Given the description of an element on the screen output the (x, y) to click on. 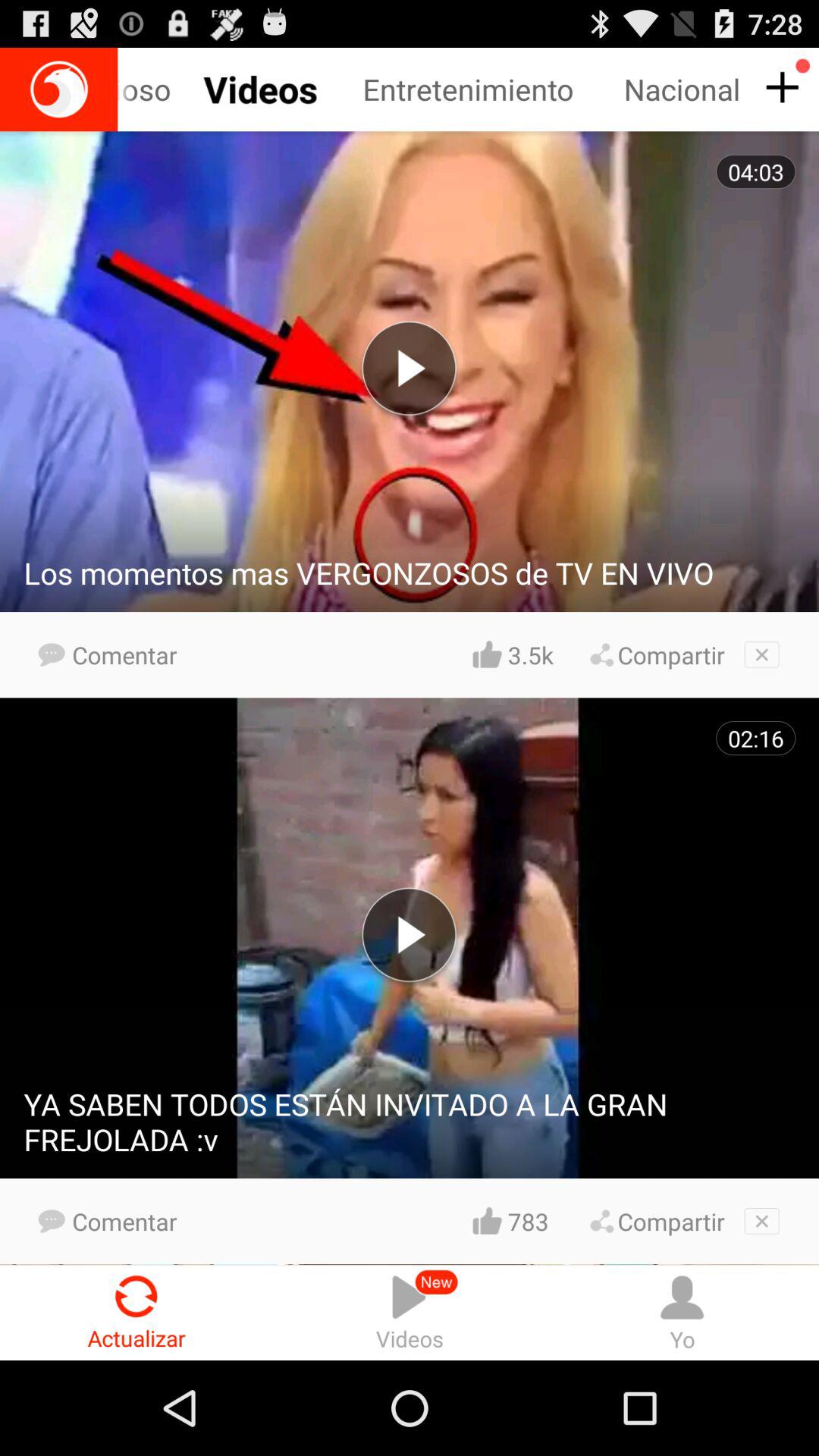
flip until the 783 (530, 1221)
